Given the description of an element on the screen output the (x, y) to click on. 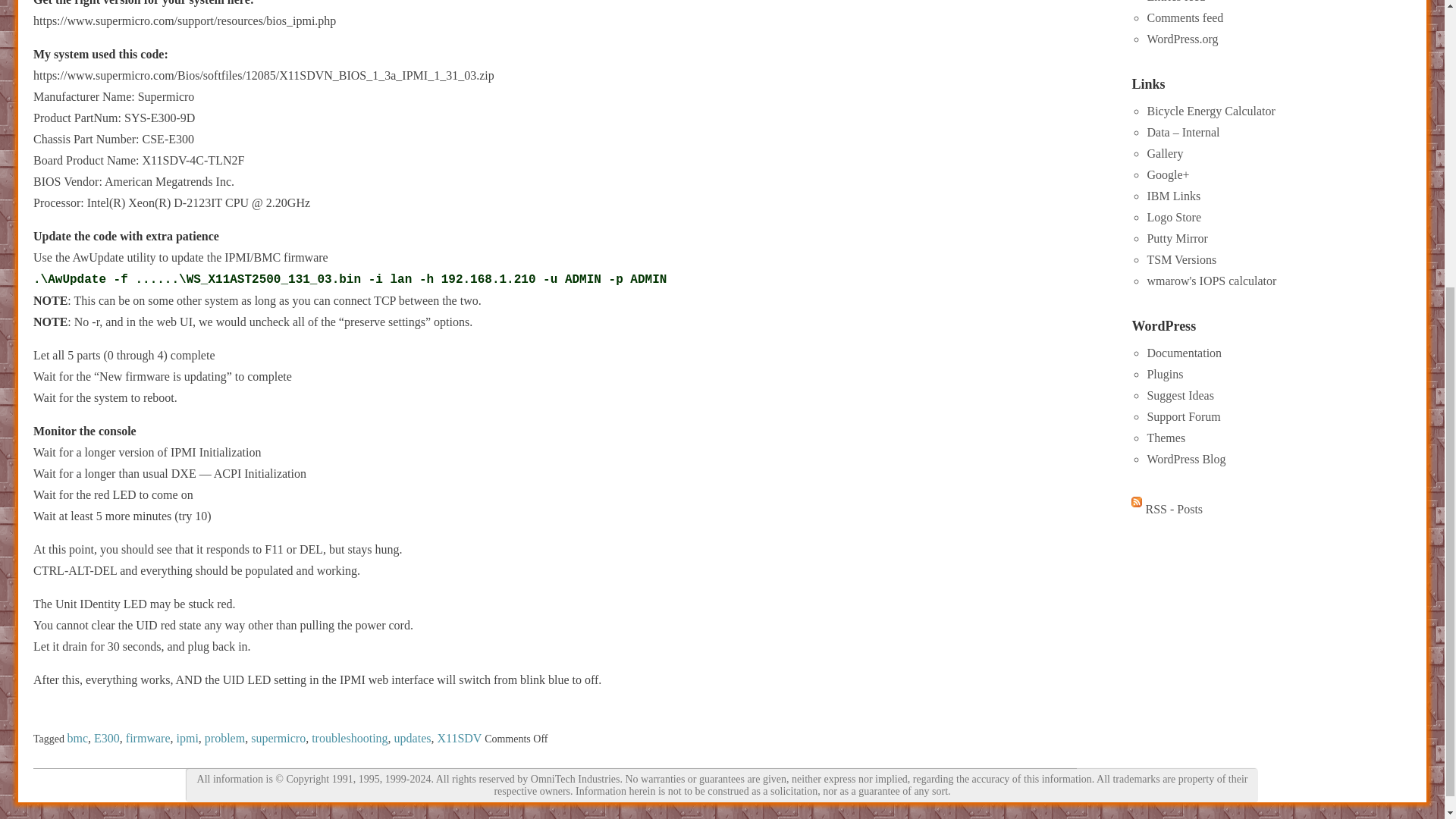
Subscribe to posts (1166, 508)
CafePress store for OmniTech (1174, 216)
wmarow's IOPS calculator (1211, 280)
E300 (106, 738)
Gallery (1164, 153)
Documentation (1184, 352)
Bicycle Energy Calculator (1211, 110)
Image gallery for OTI clients. (1164, 153)
supermicro (277, 738)
Occasionally updated links to IBM resources (1173, 195)
TSM Versions (1181, 259)
Comments feed (1185, 17)
WordPress.org (1182, 38)
IBM Links (1173, 195)
